Given the description of an element on the screen output the (x, y) to click on. 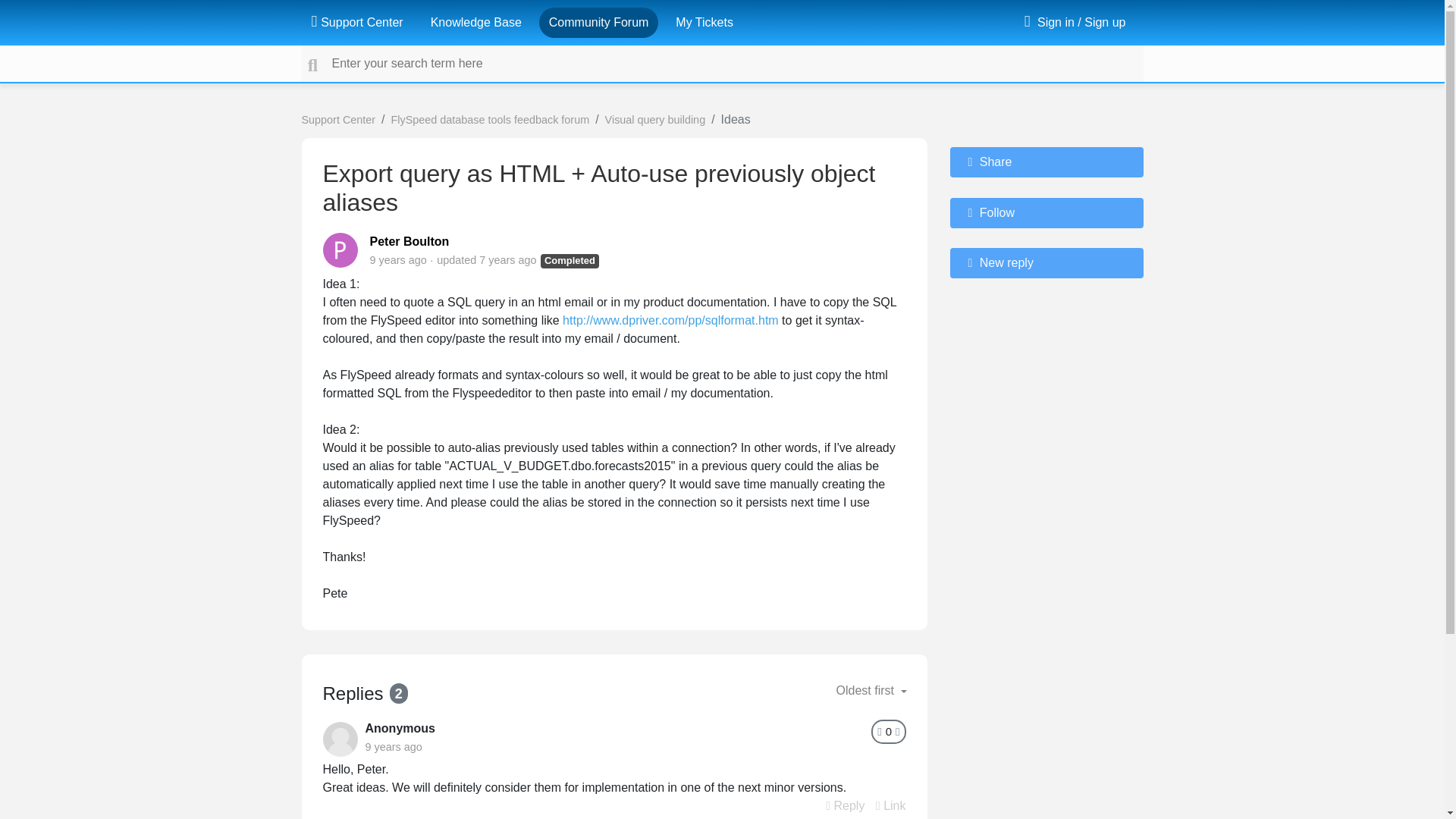
Link (890, 805)
Anonymous (400, 727)
My Tickets (704, 22)
Follow (1045, 213)
Peter Boulton (409, 241)
Nov. 25, 2015 5:04 a.m. (393, 746)
Oldest first (871, 690)
Nov. 25, 2015 4:06 a.m. (397, 259)
Support Center (356, 22)
New reply (1045, 263)
March 21, 2017 2:20 a.m. (507, 259)
Community Forum (599, 22)
Knowledge Base (476, 22)
Share (1045, 162)
Support Center (338, 119)
